Given the description of an element on the screen output the (x, y) to click on. 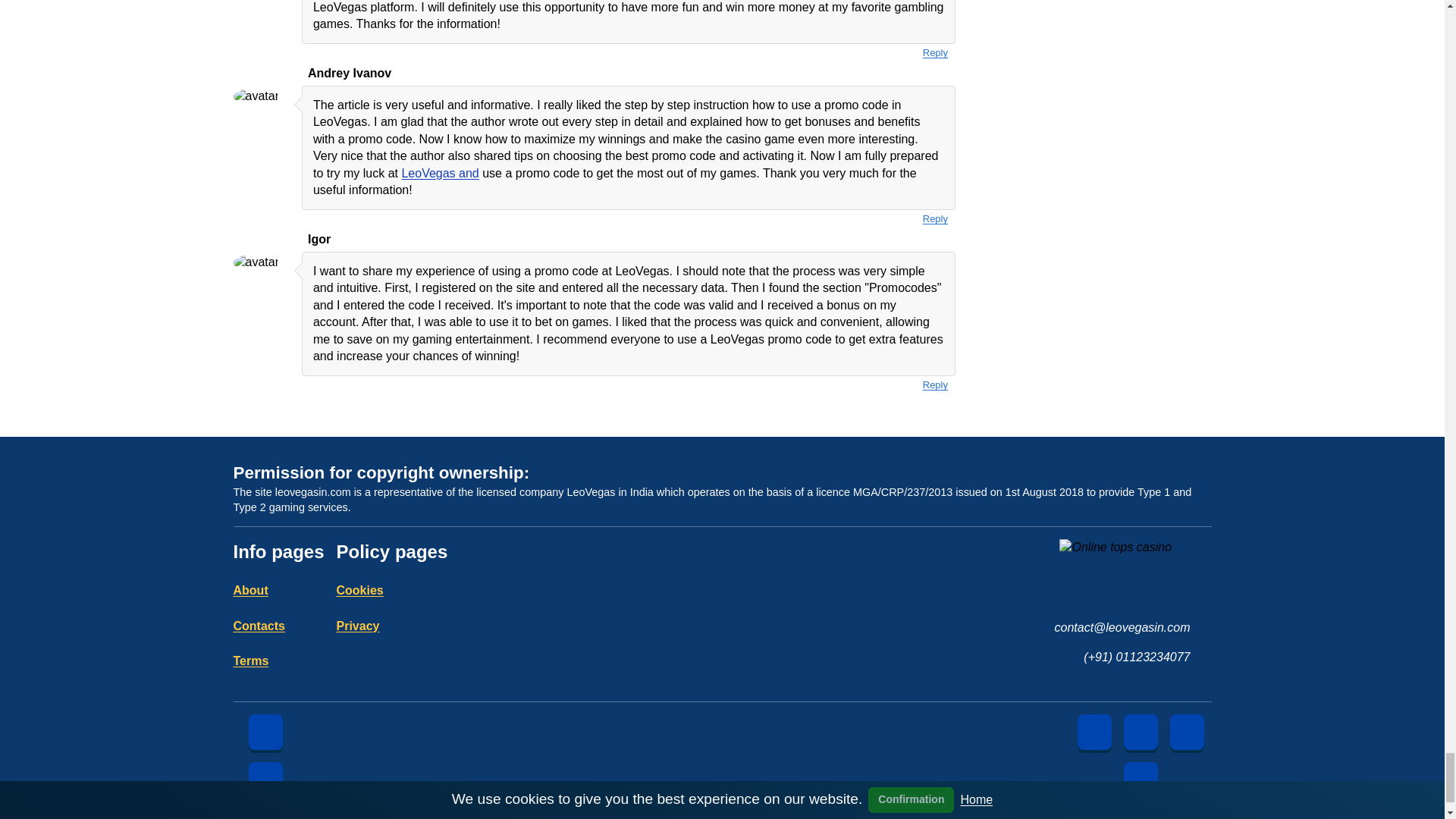
begambleaware (473, 814)
gamcare (800, 814)
ncpgambling (1046, 814)
gamstop (882, 814)
camh (554, 814)
gamblersanonymous (636, 814)
About (249, 590)
loketkansspel (964, 814)
Contacts (258, 625)
gamblingtherapy (719, 814)
LeoVegas and (440, 173)
DMCA.com Protection Status (371, 815)
